Given the description of an element on the screen output the (x, y) to click on. 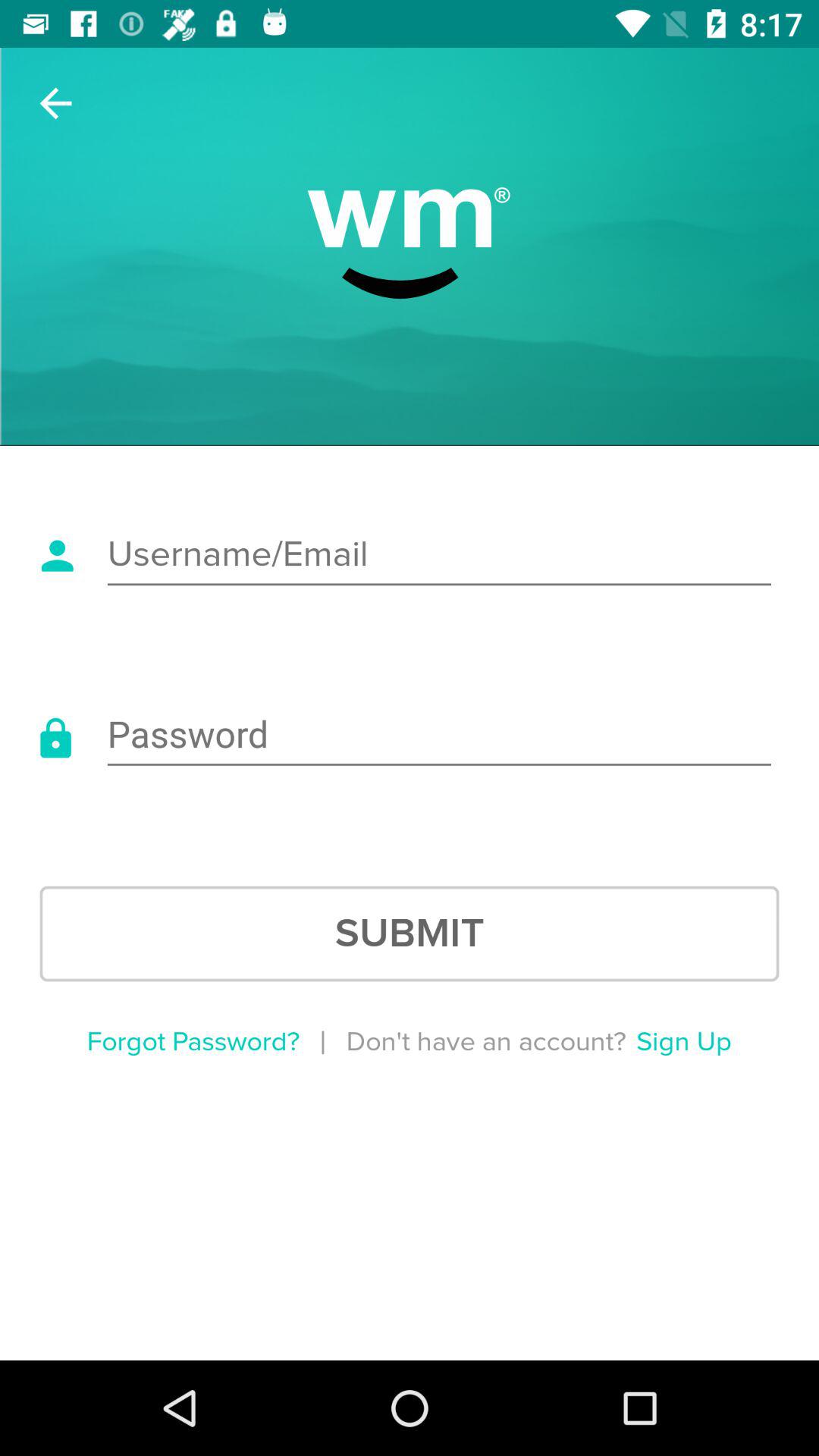
choose item below the submit item (683, 1042)
